Given the description of an element on the screen output the (x, y) to click on. 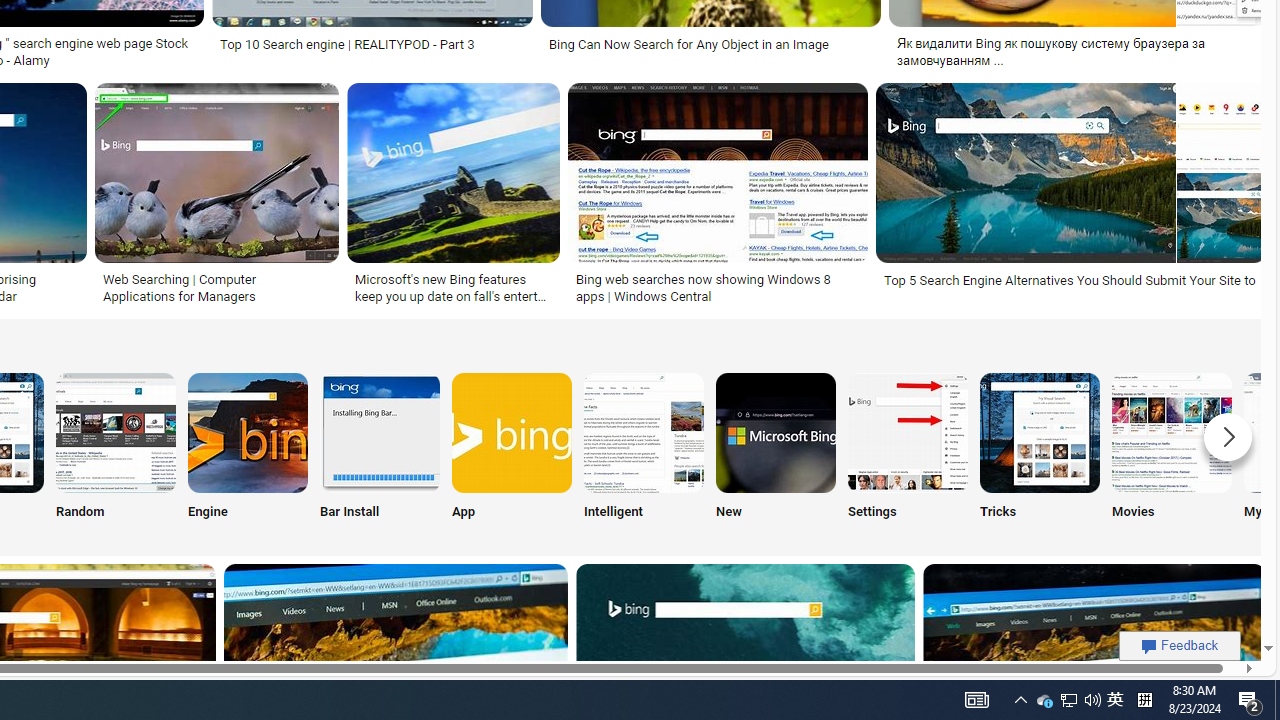
Engine (248, 450)
Random (116, 450)
Movies (1171, 450)
Bing Random Search Random (116, 450)
Intelligent (643, 450)
